Given the description of an element on the screen output the (x, y) to click on. 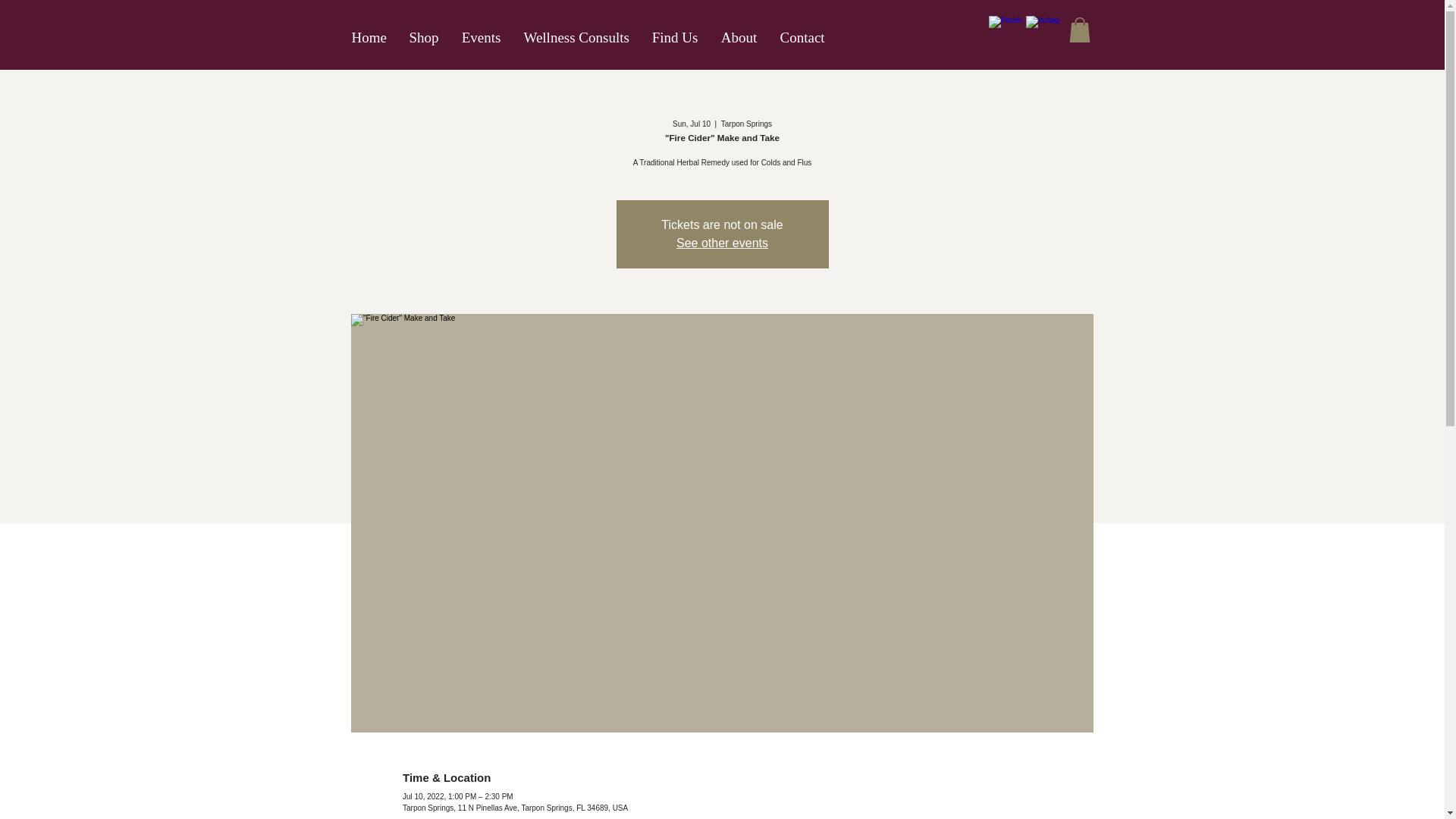
Shop (423, 37)
Home (368, 37)
Events (480, 37)
Contact (801, 37)
Find Us (674, 37)
See other events (722, 242)
Wellness Consults (576, 37)
